Given the description of an element on the screen output the (x, y) to click on. 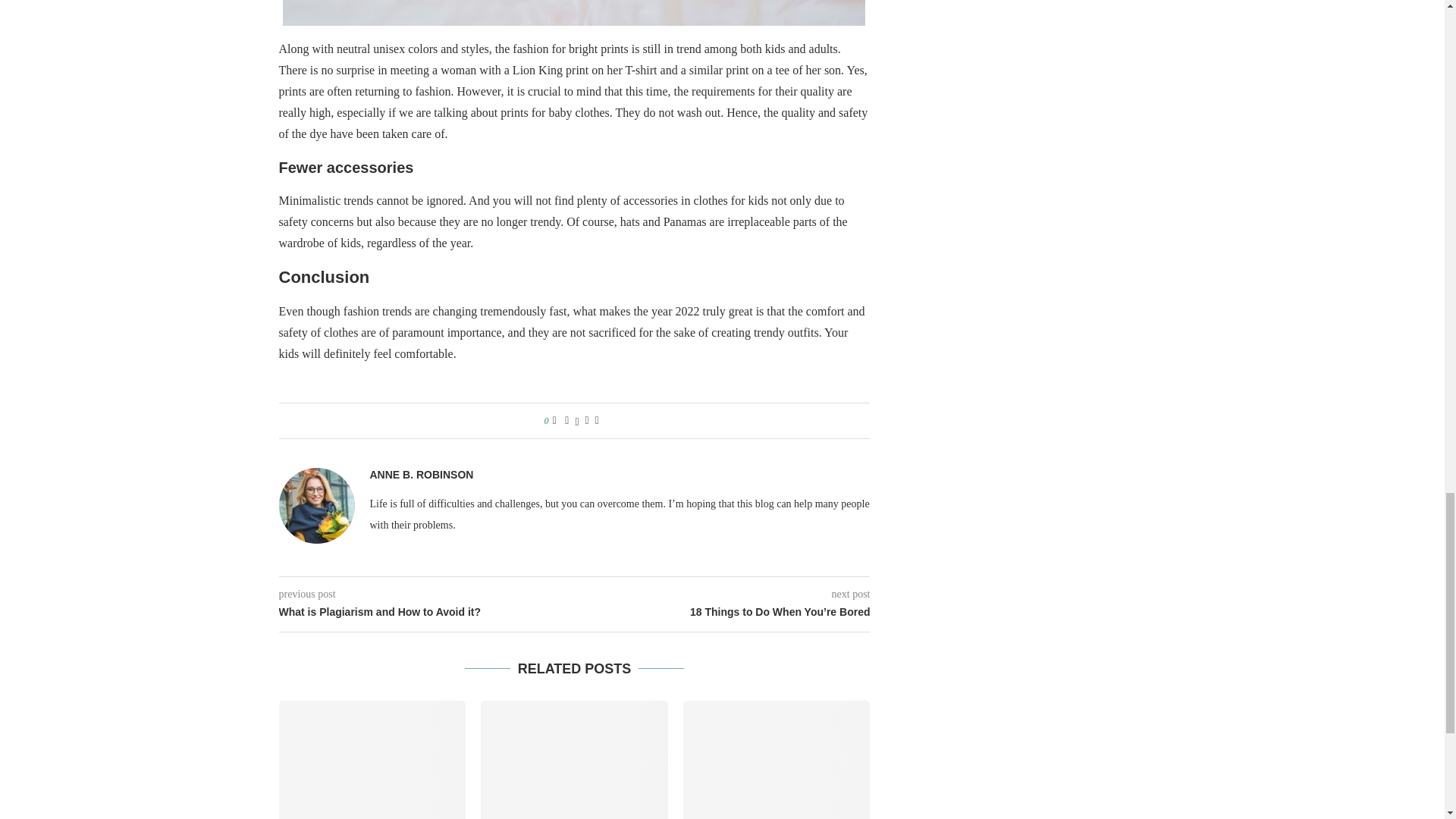
Author Anne B. Robinson (421, 474)
Everything To Know About Biker Jeans (776, 760)
